Given the description of an element on the screen output the (x, y) to click on. 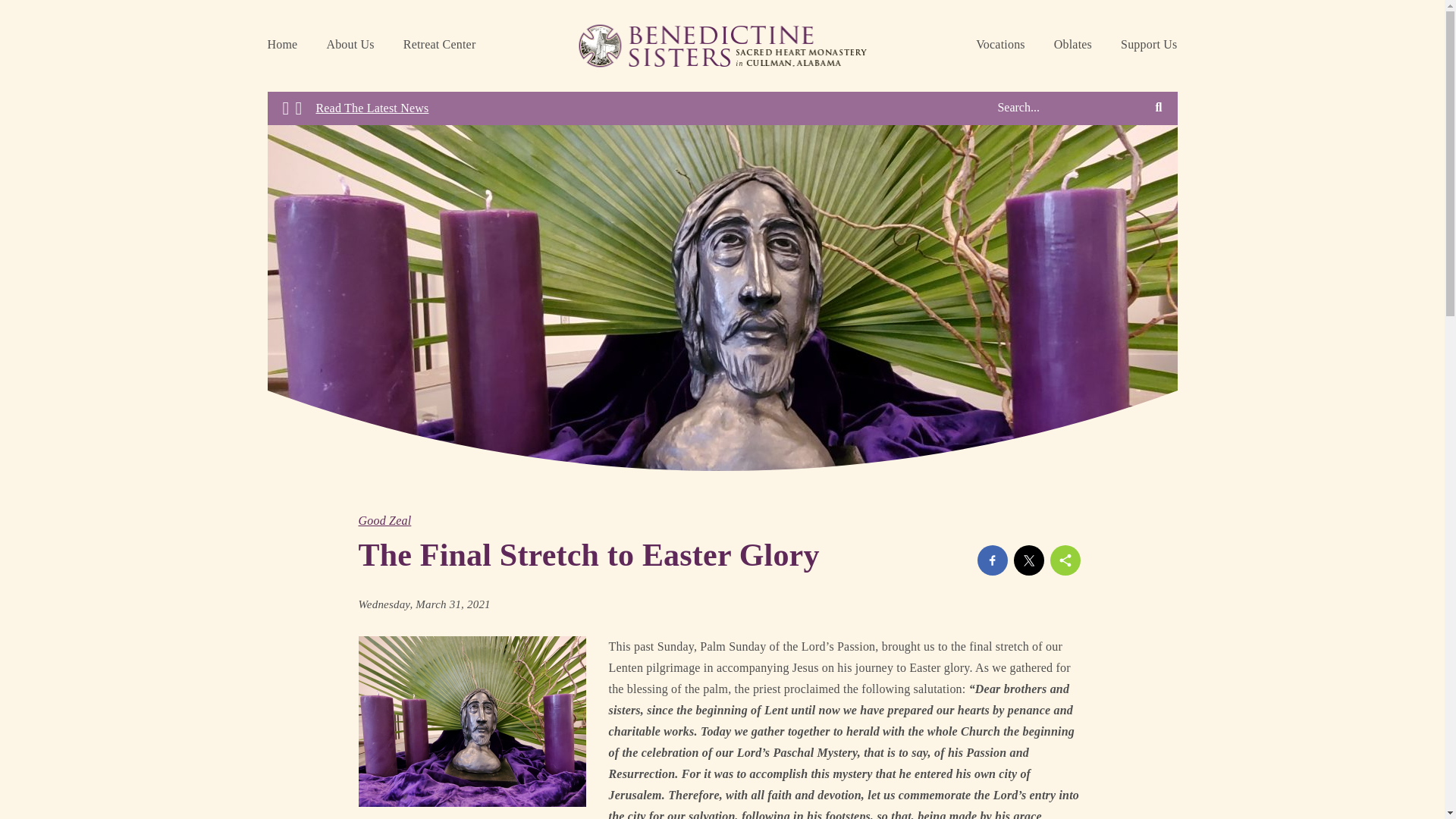
Oblates (1072, 45)
Retreat Center (439, 45)
Support Us (1148, 45)
Vocations (999, 45)
About Us (350, 45)
